Given the description of an element on the screen output the (x, y) to click on. 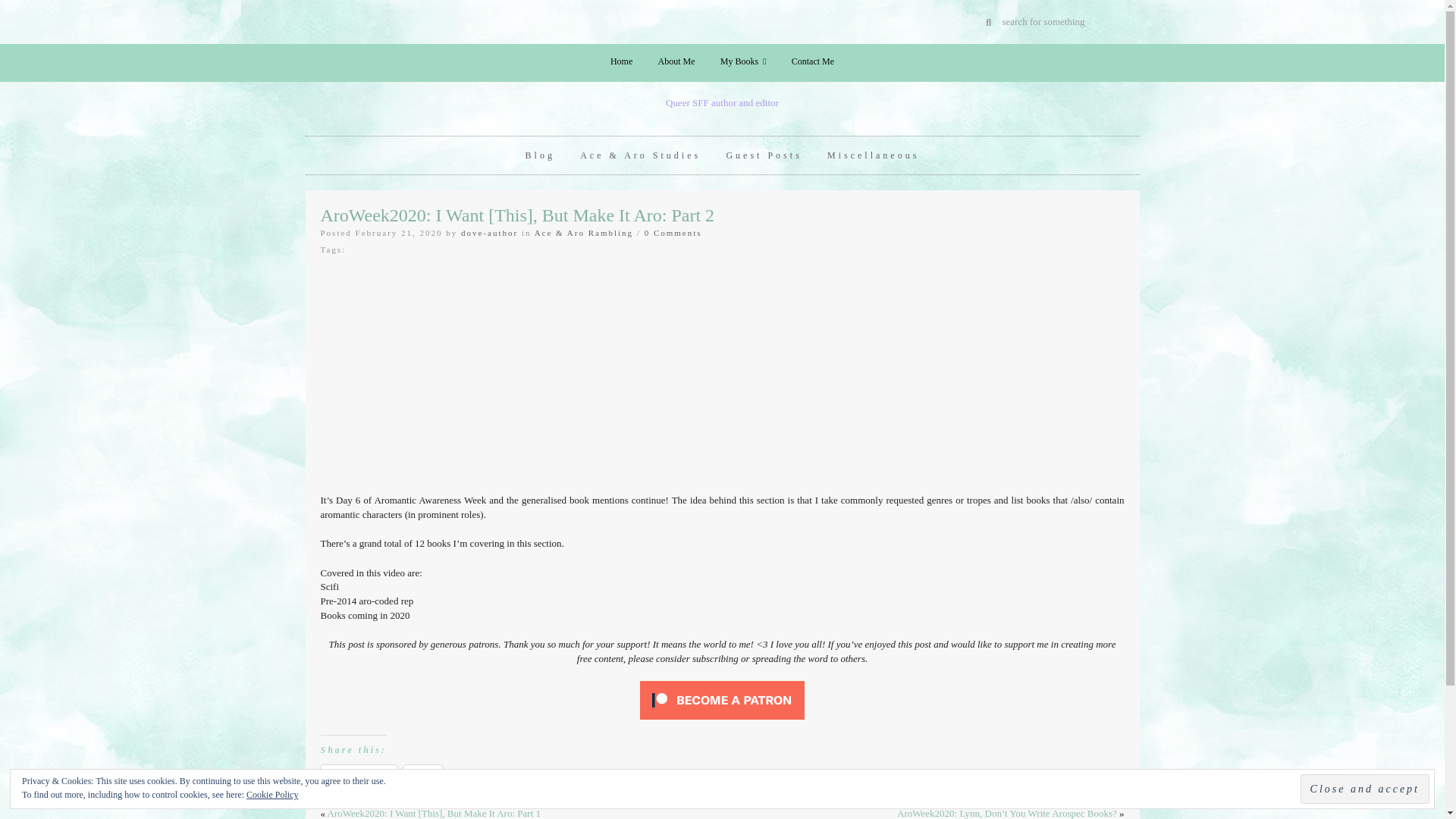
Close and accept (1364, 788)
Close and accept (1364, 788)
Facebook (358, 775)
Home (620, 61)
About Me (676, 61)
Blog (539, 155)
My Books   (743, 61)
Click to share on X (423, 775)
Cookie Policy (272, 794)
0 Comments (673, 232)
Click to share on Facebook (358, 775)
Guest Posts (763, 155)
X (423, 775)
dove-author (489, 232)
Miscellaneous (872, 155)
